Given the description of an element on the screen output the (x, y) to click on. 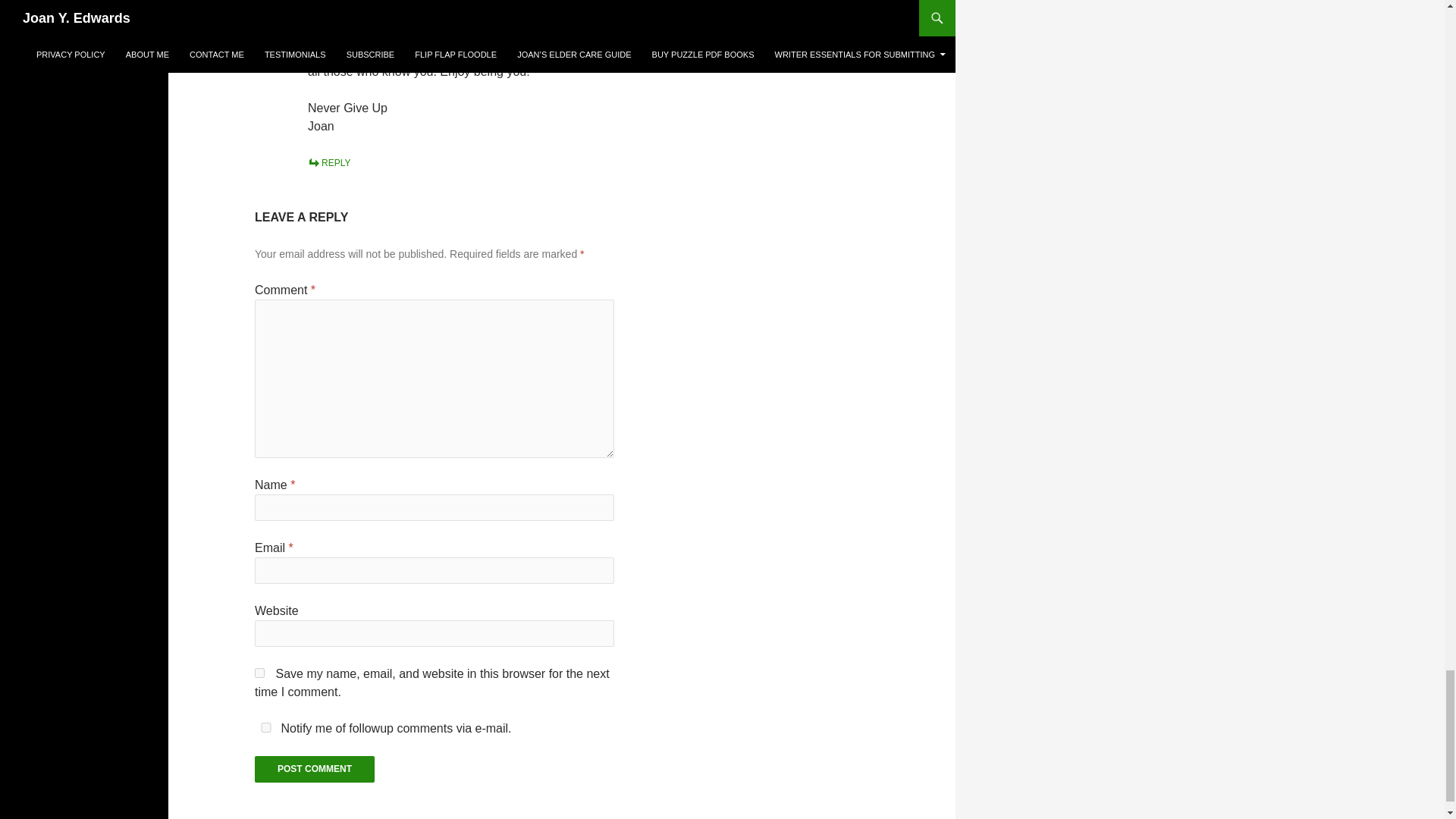
Post Comment (314, 768)
yes (259, 673)
yes (266, 727)
